Given the description of an element on the screen output the (x, y) to click on. 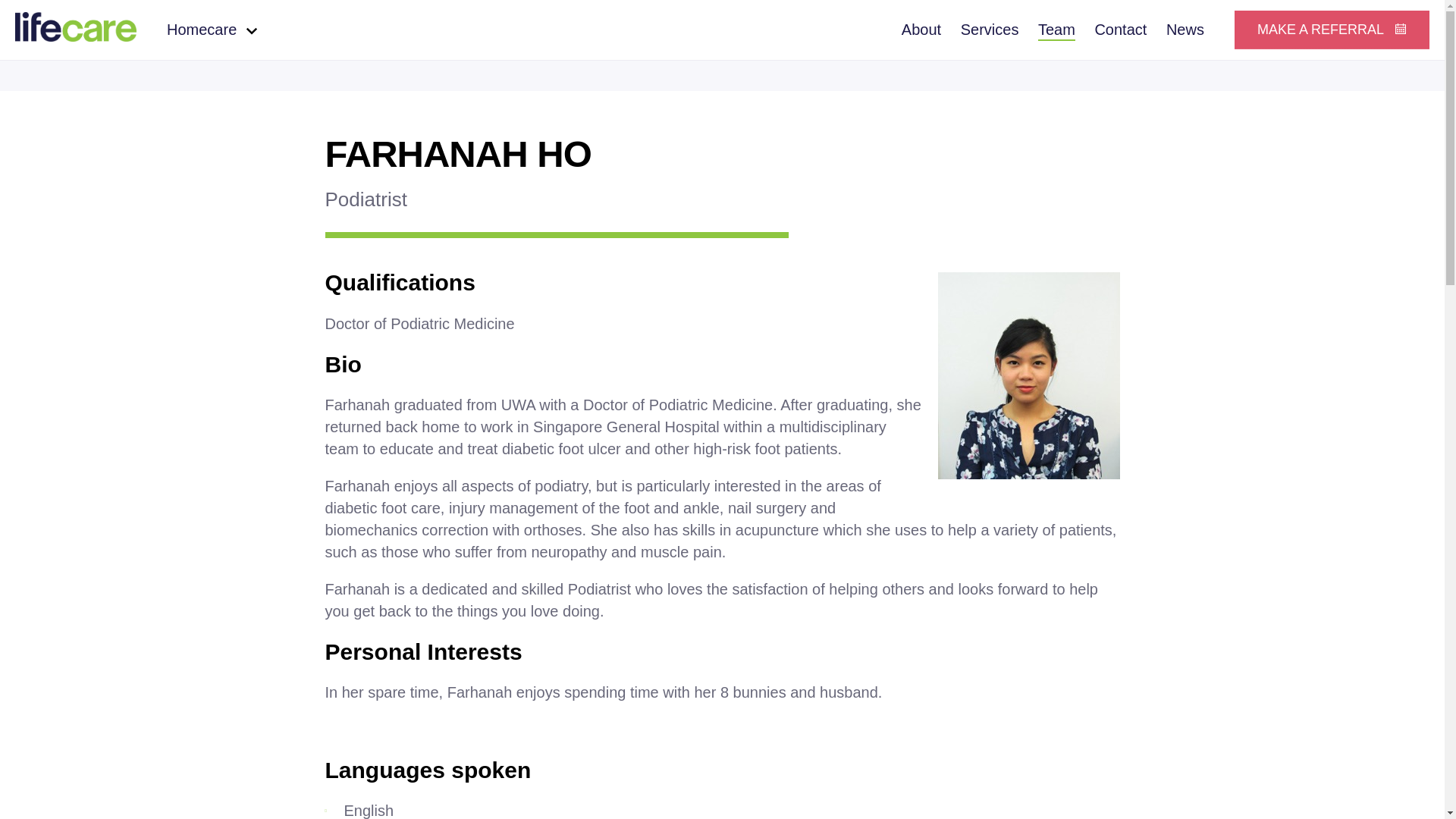
Contact (1120, 30)
Team (1056, 30)
News (1185, 30)
Homecare (213, 29)
Services (989, 30)
MAKE A REFERRAL (1331, 29)
About (920, 30)
